Given the description of an element on the screen output the (x, y) to click on. 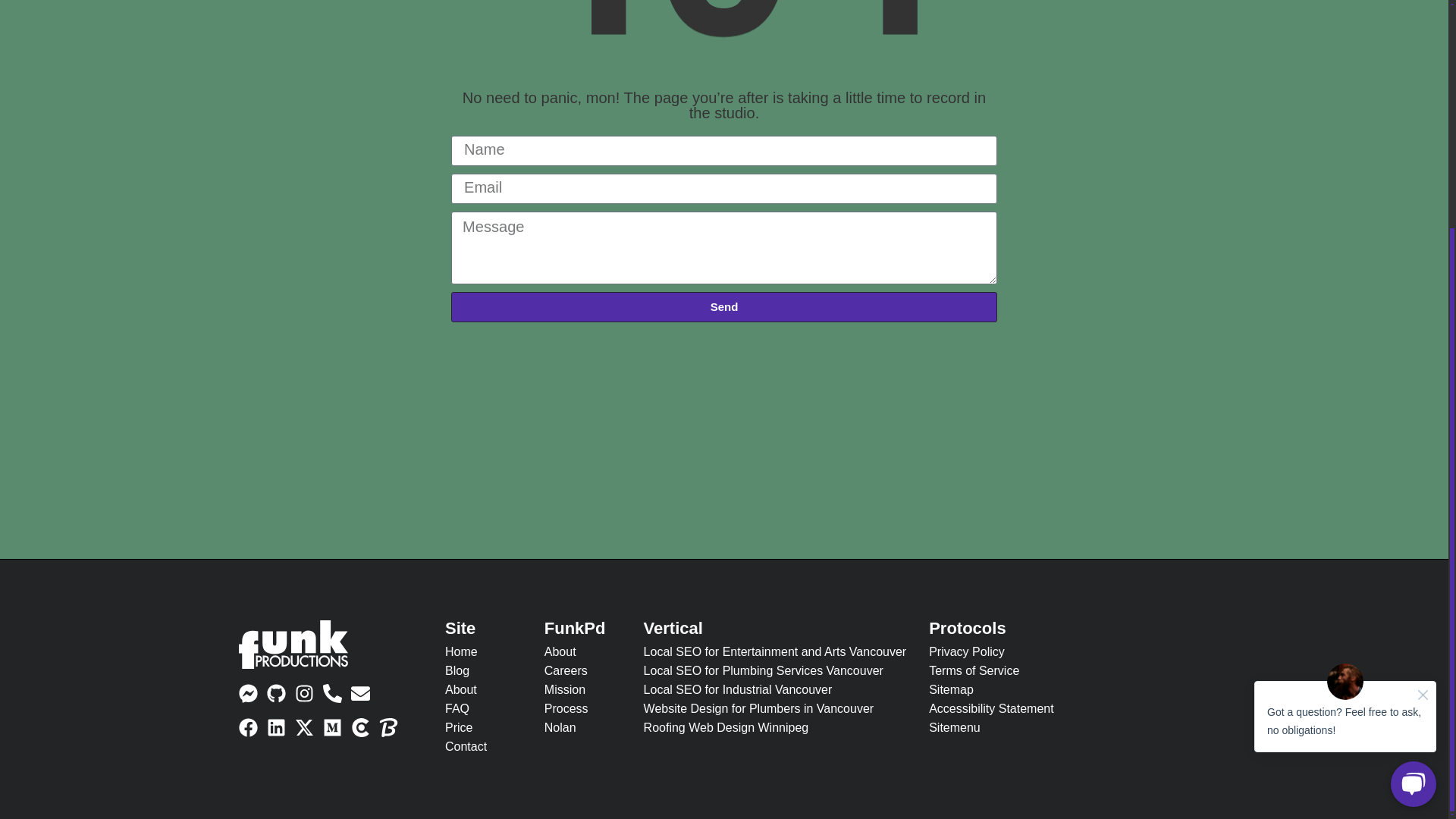
Price (483, 727)
Send (724, 306)
Mission (582, 689)
Home (483, 652)
About (582, 652)
FunkPd (582, 628)
Blog (483, 670)
goto:home (292, 663)
Contact (483, 746)
Careers (582, 670)
FAQ (483, 708)
About (483, 689)
Site (483, 628)
